Given the description of an element on the screen output the (x, y) to click on. 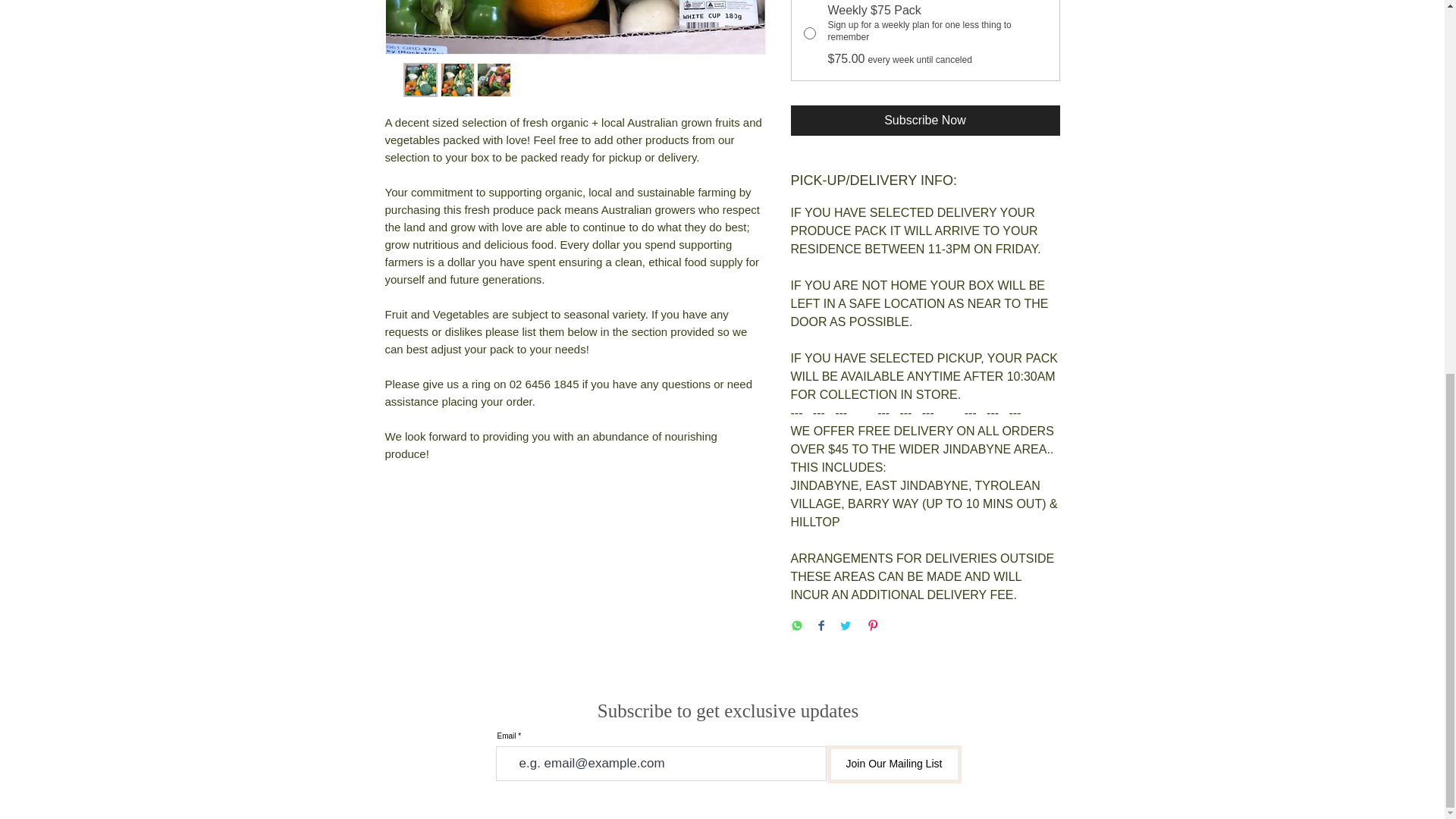
Join Our Mailing List (893, 763)
Subscribe Now (924, 120)
